Given the description of an element on the screen output the (x, y) to click on. 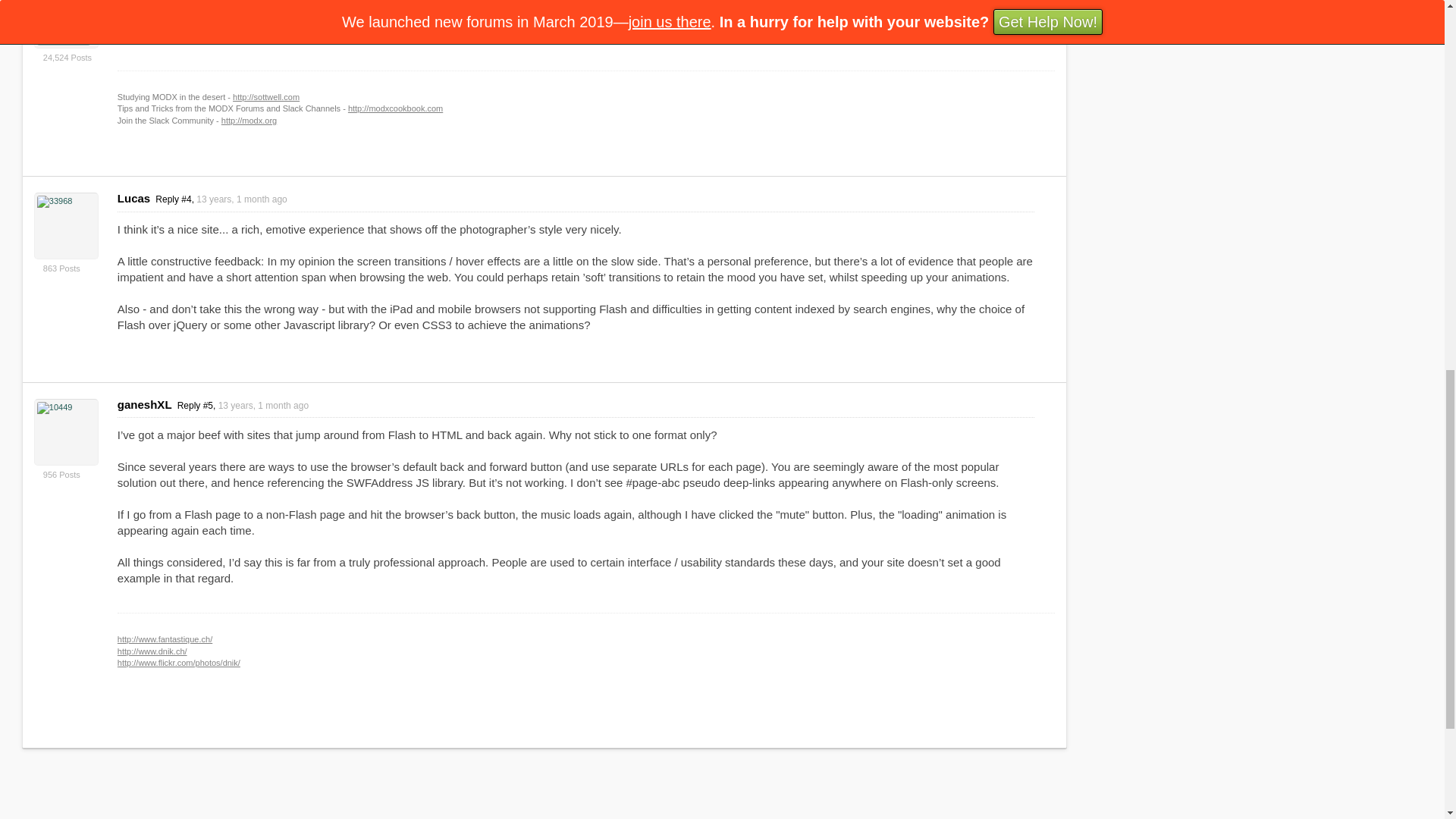
View Author Profile (66, 432)
View Author Profile (66, 24)
View Author Profile (66, 225)
Link to this Post (220, 199)
Link to this Post (242, 405)
Jun 11, 2011, 05:33 AM (241, 199)
